Given the description of an element on the screen output the (x, y) to click on. 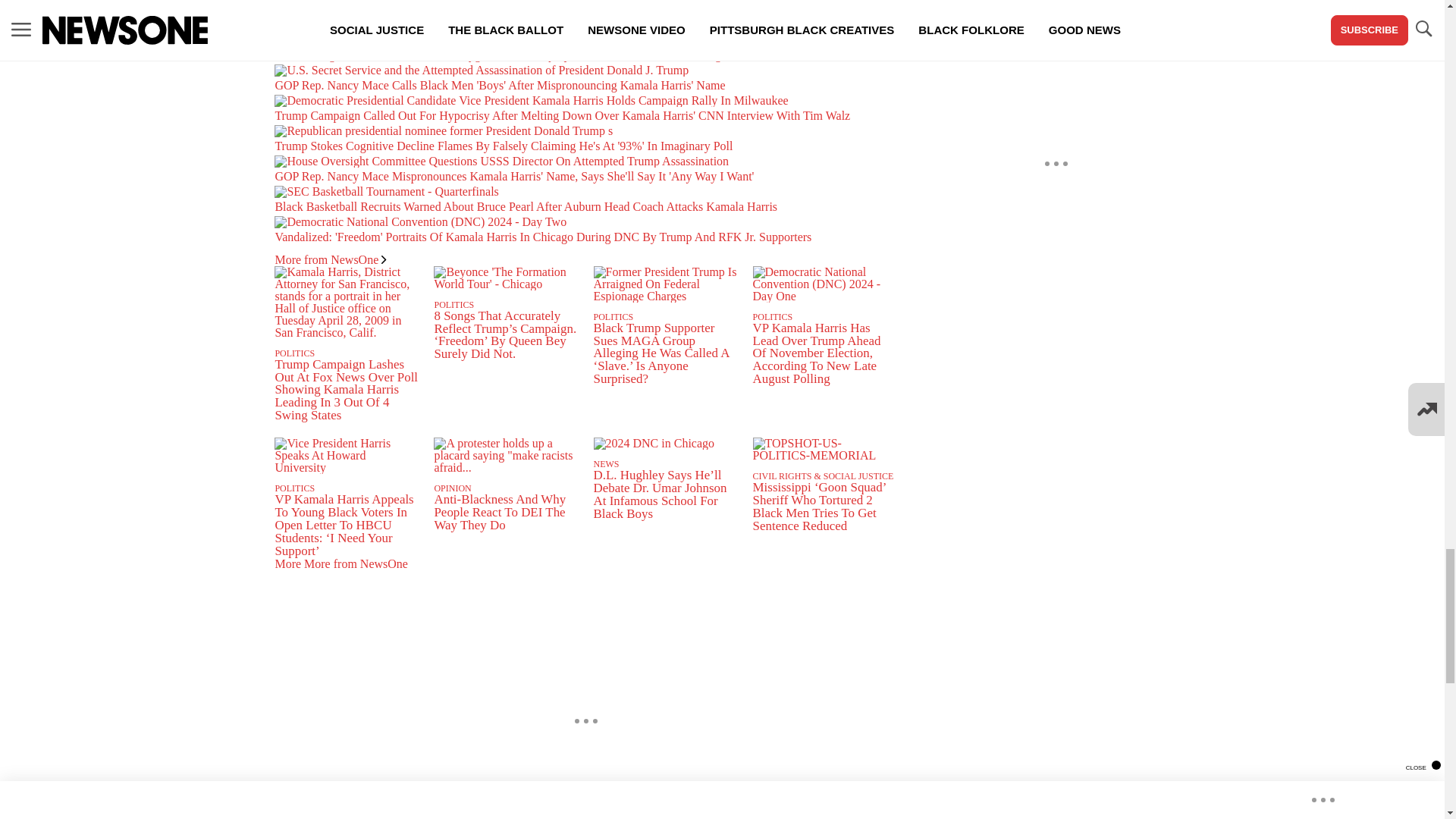
POLITICS (294, 353)
More from NewsOne (330, 259)
